Given the description of an element on the screen output the (x, y) to click on. 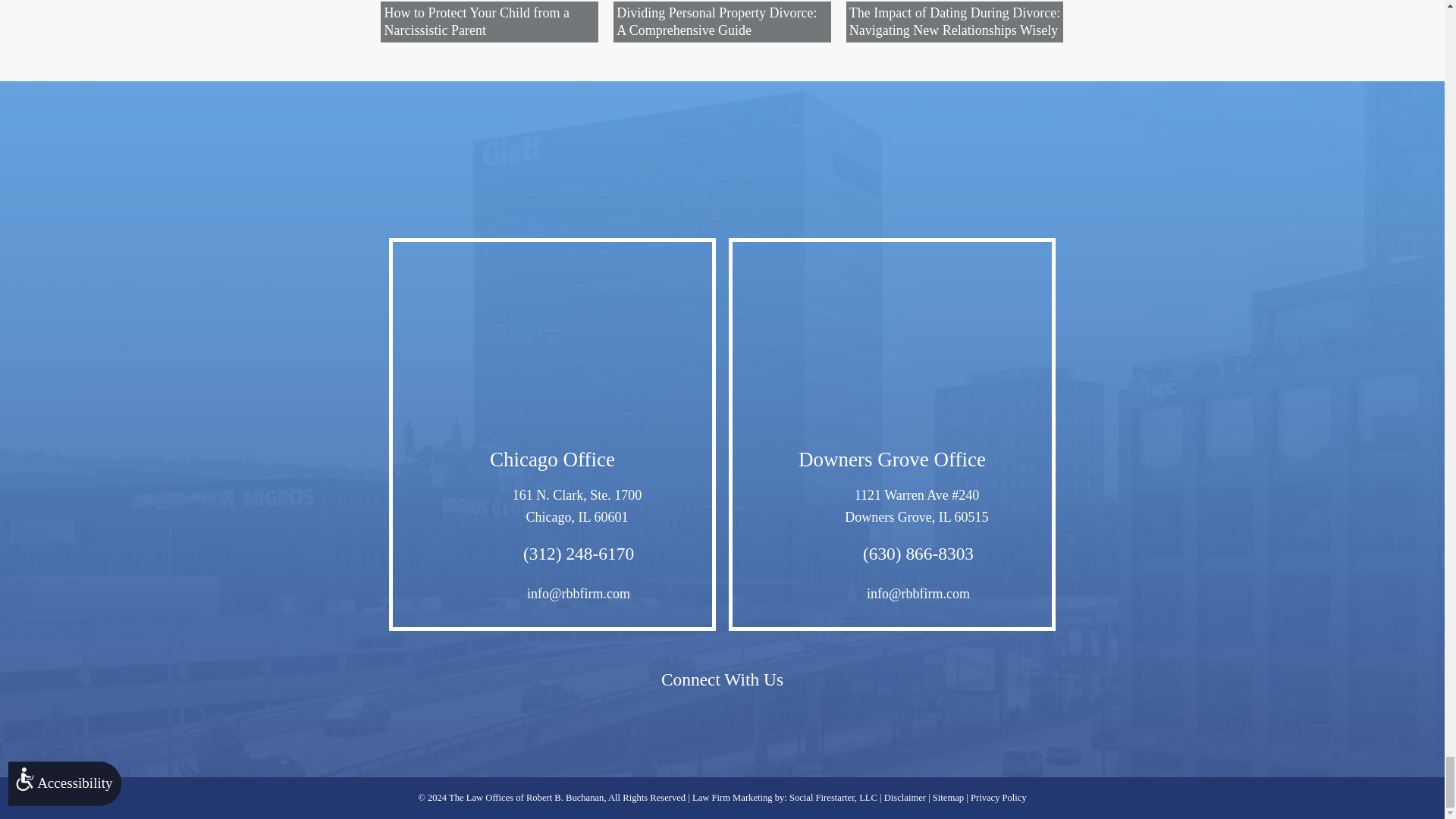
Click to activate map (891, 426)
Click to activate map (552, 426)
